Given the description of an element on the screen output the (x, y) to click on. 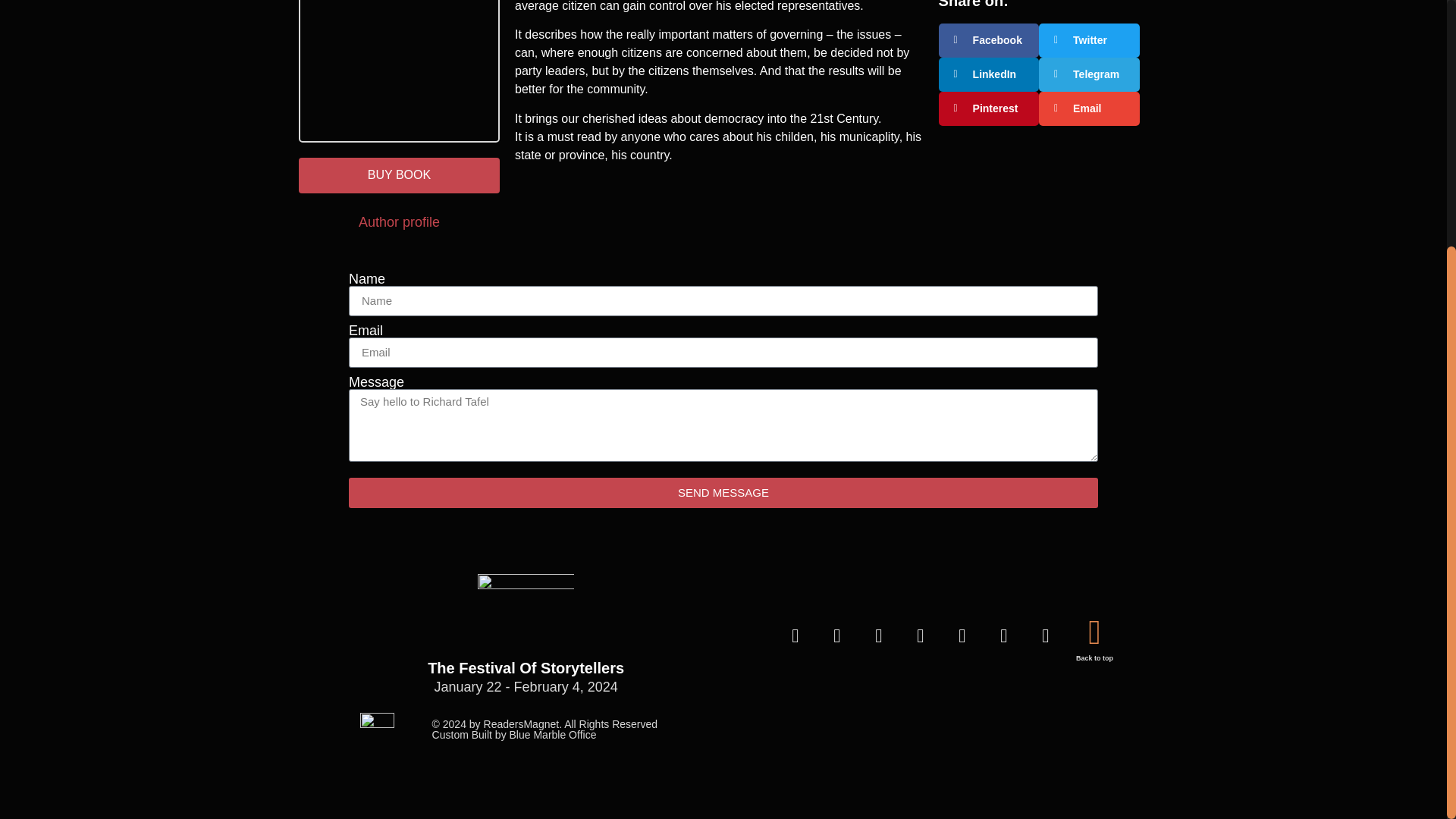
The Festival Of Storytellers (526, 668)
SEND MESSAGE (723, 492)
BUY BOOK (398, 175)
Author profile (398, 222)
